Given the description of an element on the screen output the (x, y) to click on. 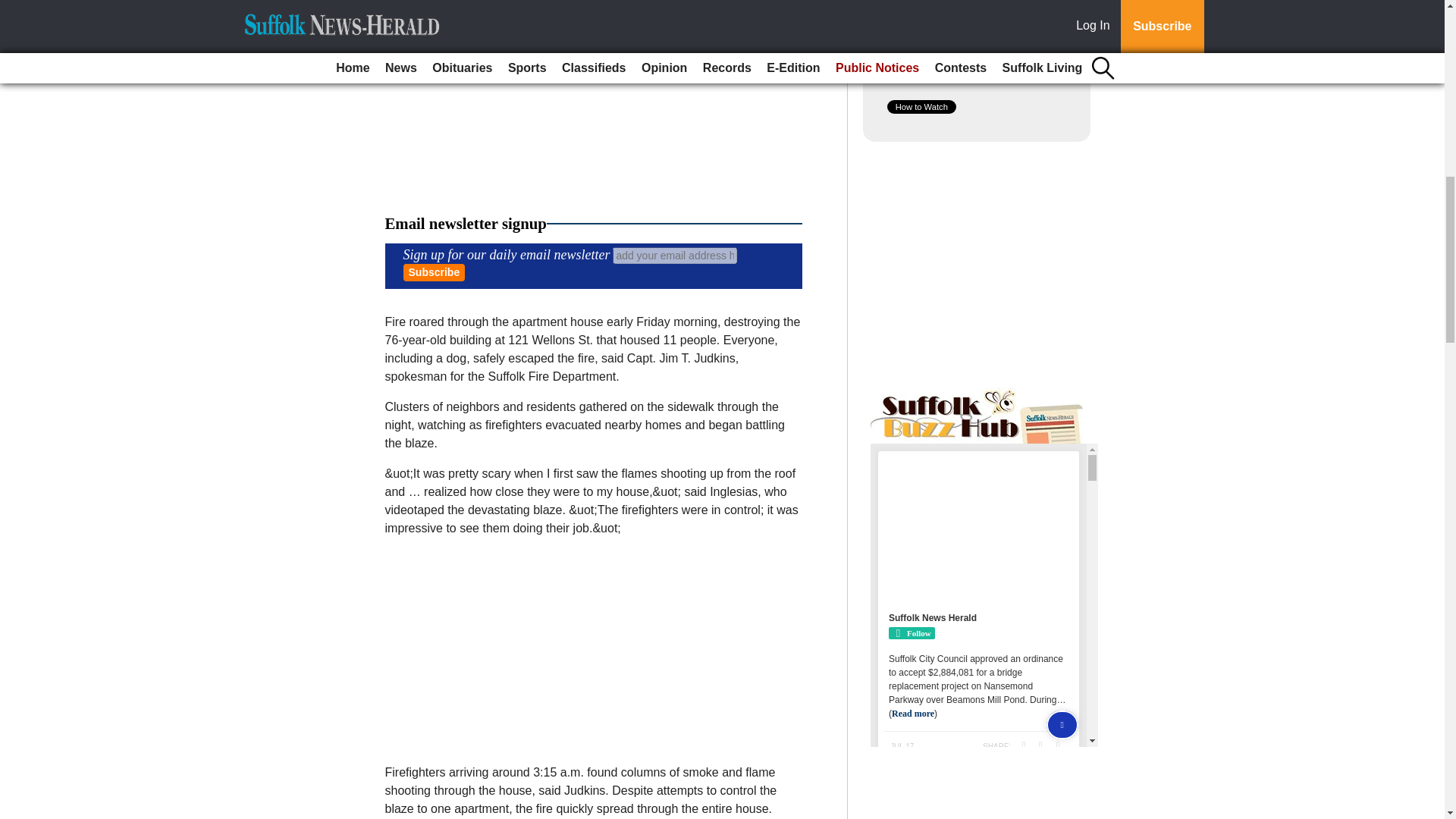
How to Watch (921, 106)
Subscribe (434, 272)
Subscribe (434, 272)
